Given the description of an element on the screen output the (x, y) to click on. 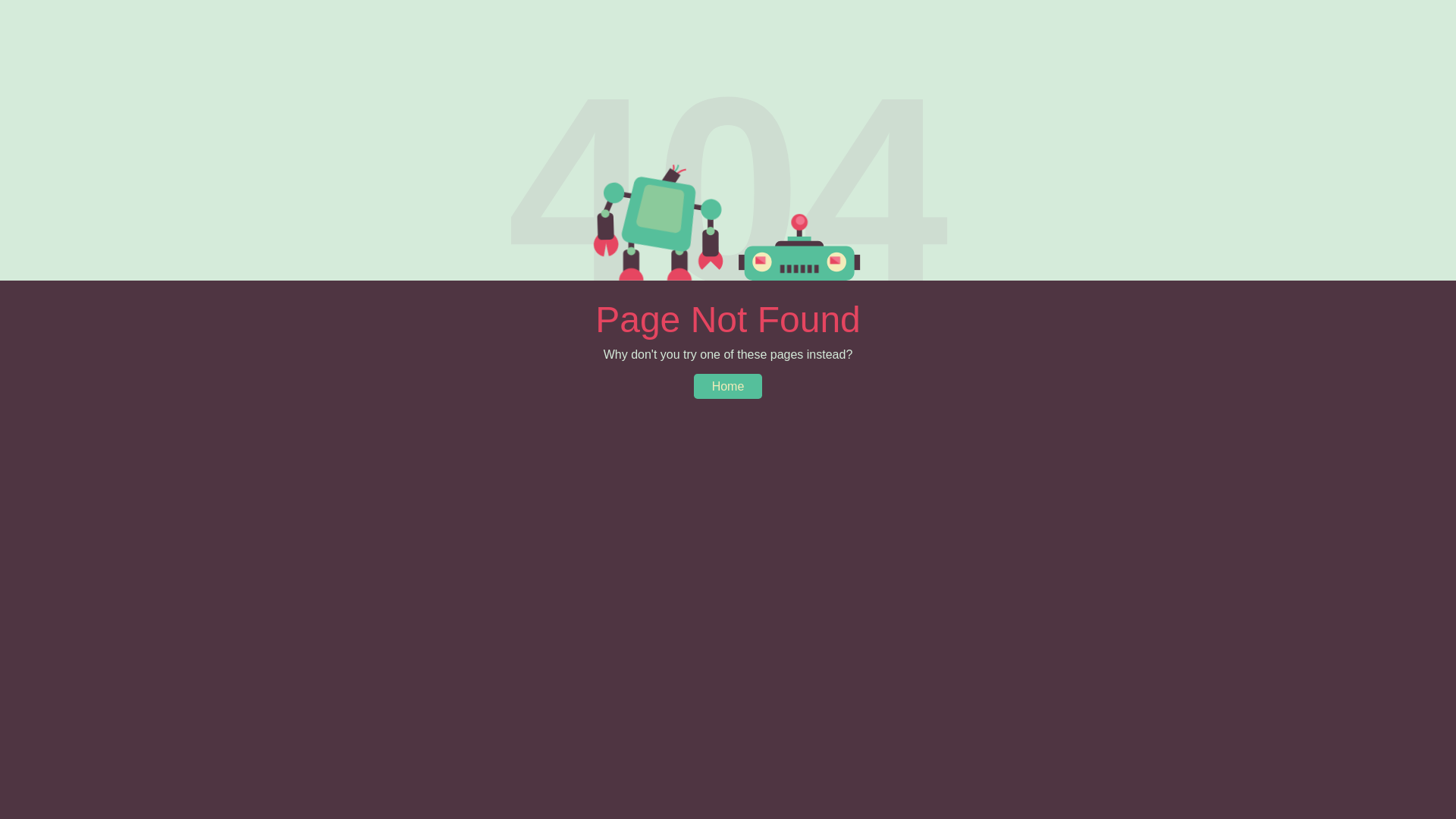
Home Element type: text (727, 385)
